Given the description of an element on the screen output the (x, y) to click on. 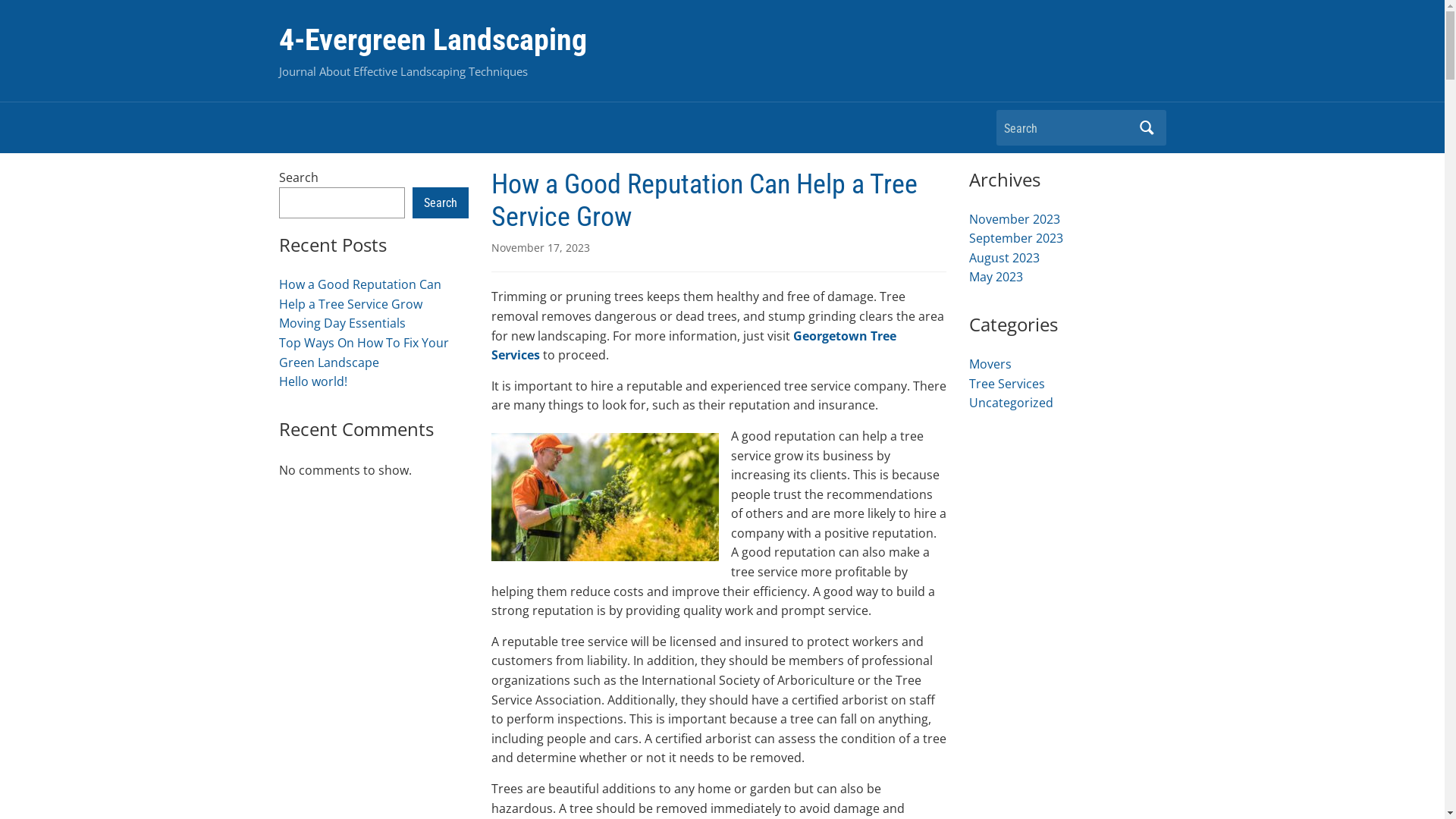
September 2023 Element type: text (1016, 237)
Moving Day Essentials Element type: text (342, 322)
Tree Services Element type: text (1006, 383)
November 2023 Element type: text (1014, 218)
Hello world! Element type: text (313, 381)
4-Evergreen Landscaping Element type: text (432, 39)
August 2023 Element type: text (1004, 257)
Search Element type: text (440, 202)
How a Good Reputation Can Help a Tree Service Grow Element type: text (704, 200)
May 2023 Element type: text (995, 276)
Search Element type: text (1146, 127)
Uncategorized Element type: text (1011, 402)
How a Good Reputation Can Help a Tree Service Grow Element type: text (360, 294)
Georgetown Tree Services Element type: text (693, 345)
Top Ways On How To Fix Your Green Landscape Element type: text (363, 352)
November 17, 2023 Element type: text (540, 247)
Movers Element type: text (990, 363)
